Given the description of an element on the screen output the (x, y) to click on. 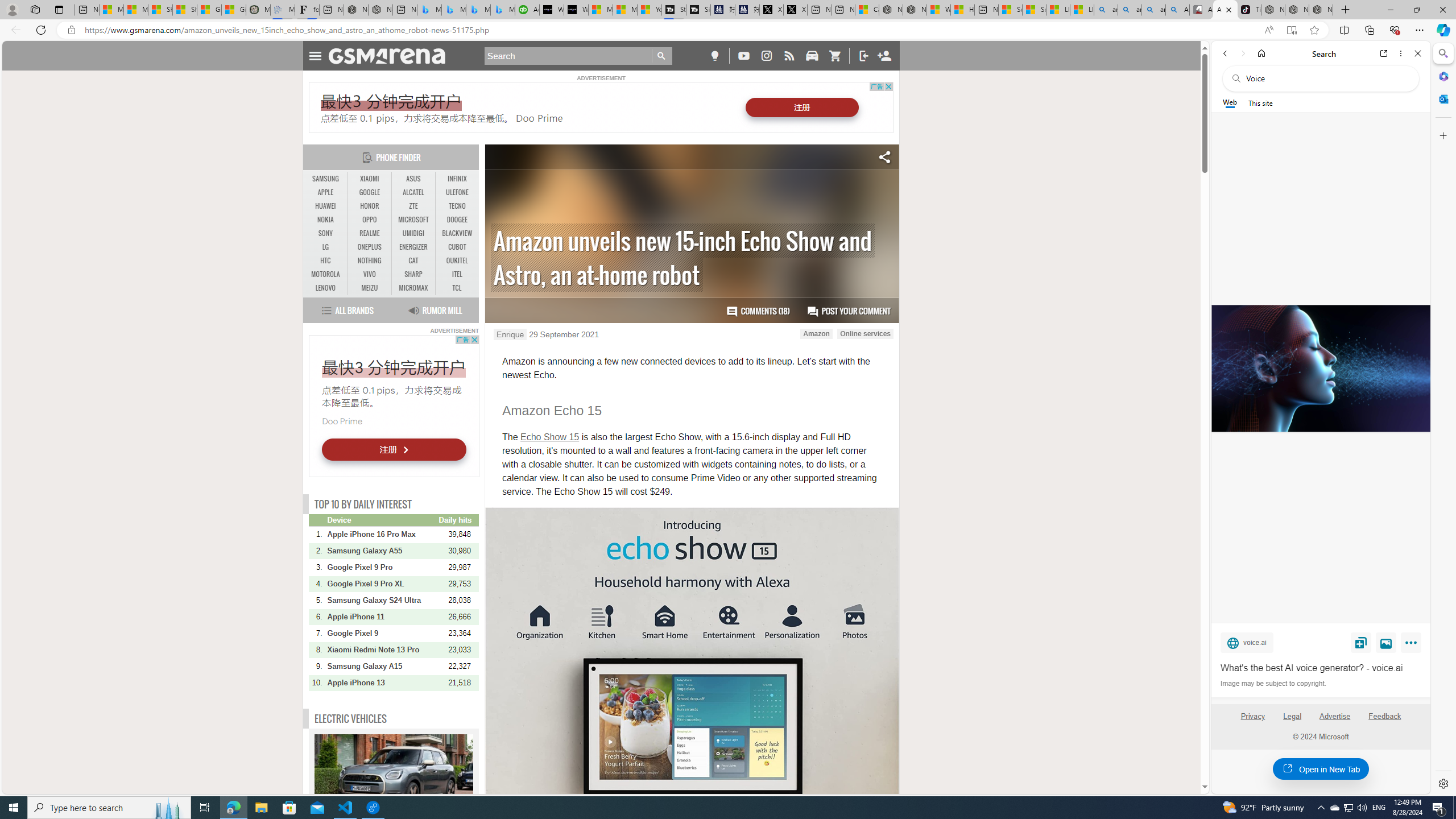
TECNO (457, 206)
Advertise (1334, 720)
APPLE (325, 192)
SAMSUNG (325, 178)
XIAOMI (369, 178)
